Given the description of an element on the screen output the (x, y) to click on. 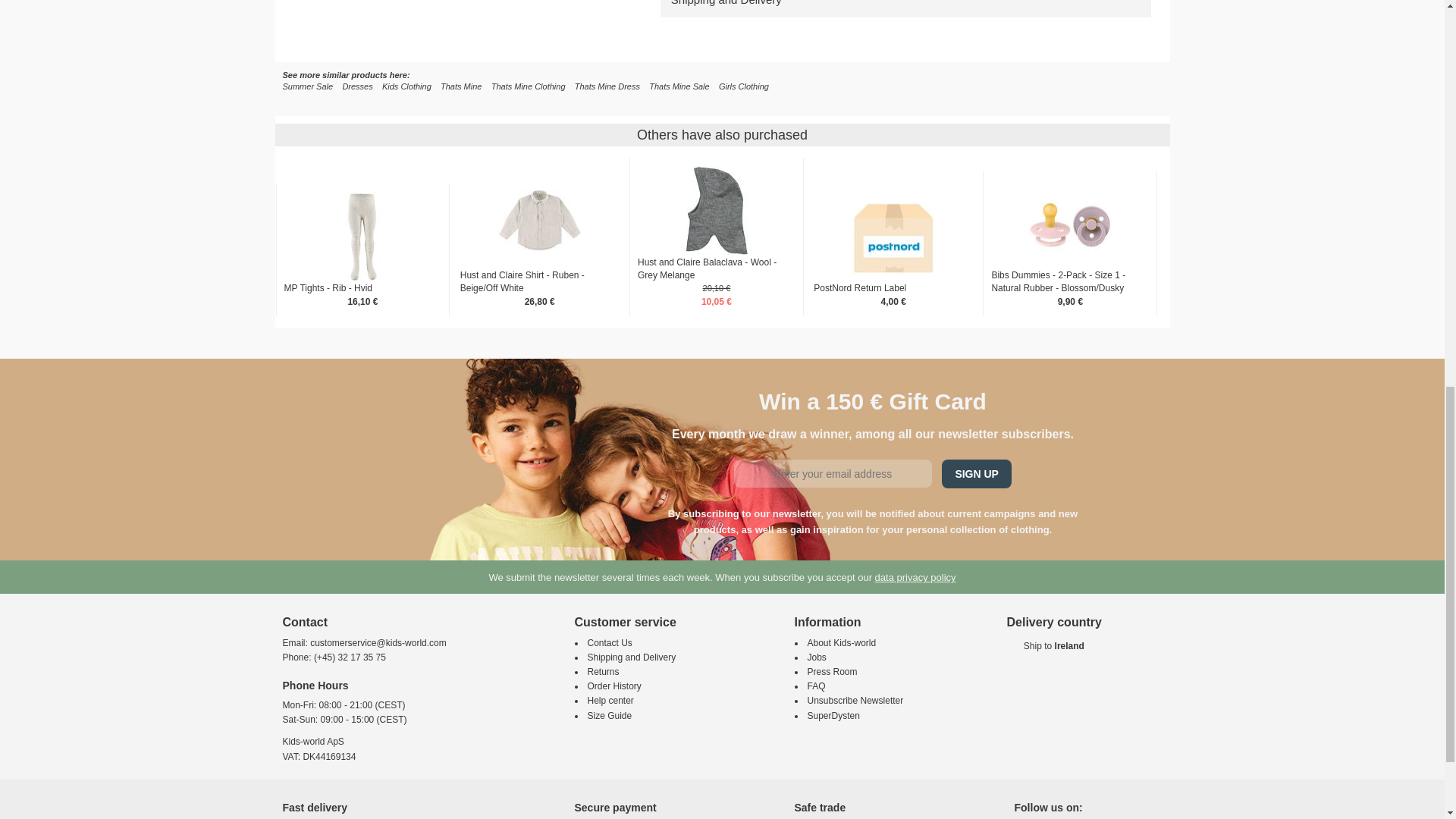
Sistema Lunchbox - Bento Lunch - 1.65 L - Blue (362, 372)
PostNord Return Label (892, 235)
That's Mine Dress - Chana - Wild Berries (441, 38)
MP Tights - Rib - Hvid (362, 235)
Hust and Claire Balaclava - Wool - Grey Melange (716, 210)
